Given the description of an element on the screen output the (x, y) to click on. 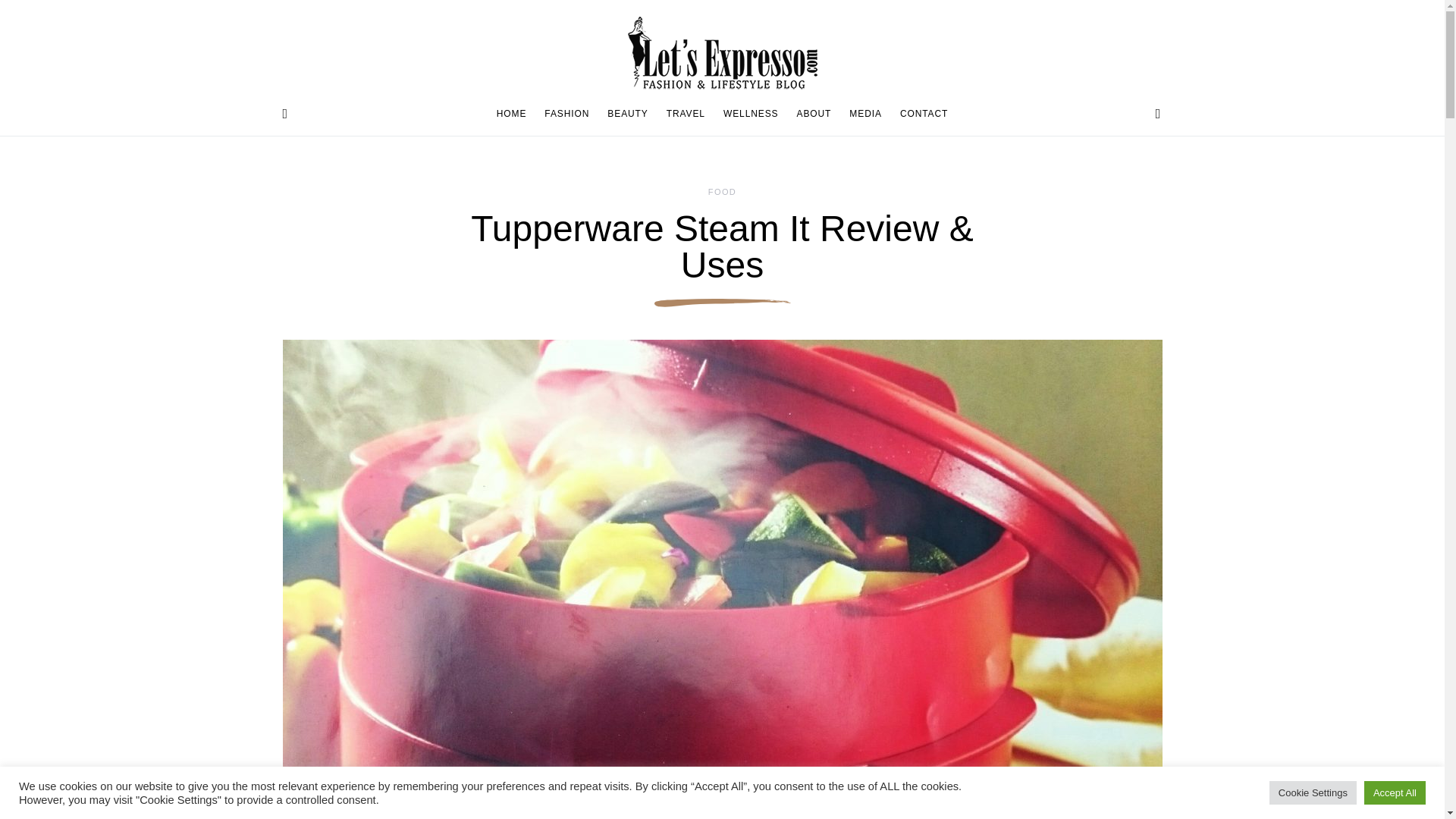
CONTACT (919, 113)
MEDIA (865, 113)
FASHION (566, 113)
ABOUT (814, 113)
WELLNESS (750, 113)
FOOD (721, 191)
TRAVEL (686, 113)
HOME (515, 113)
BEAUTY (627, 113)
